Given the description of an element on the screen output the (x, y) to click on. 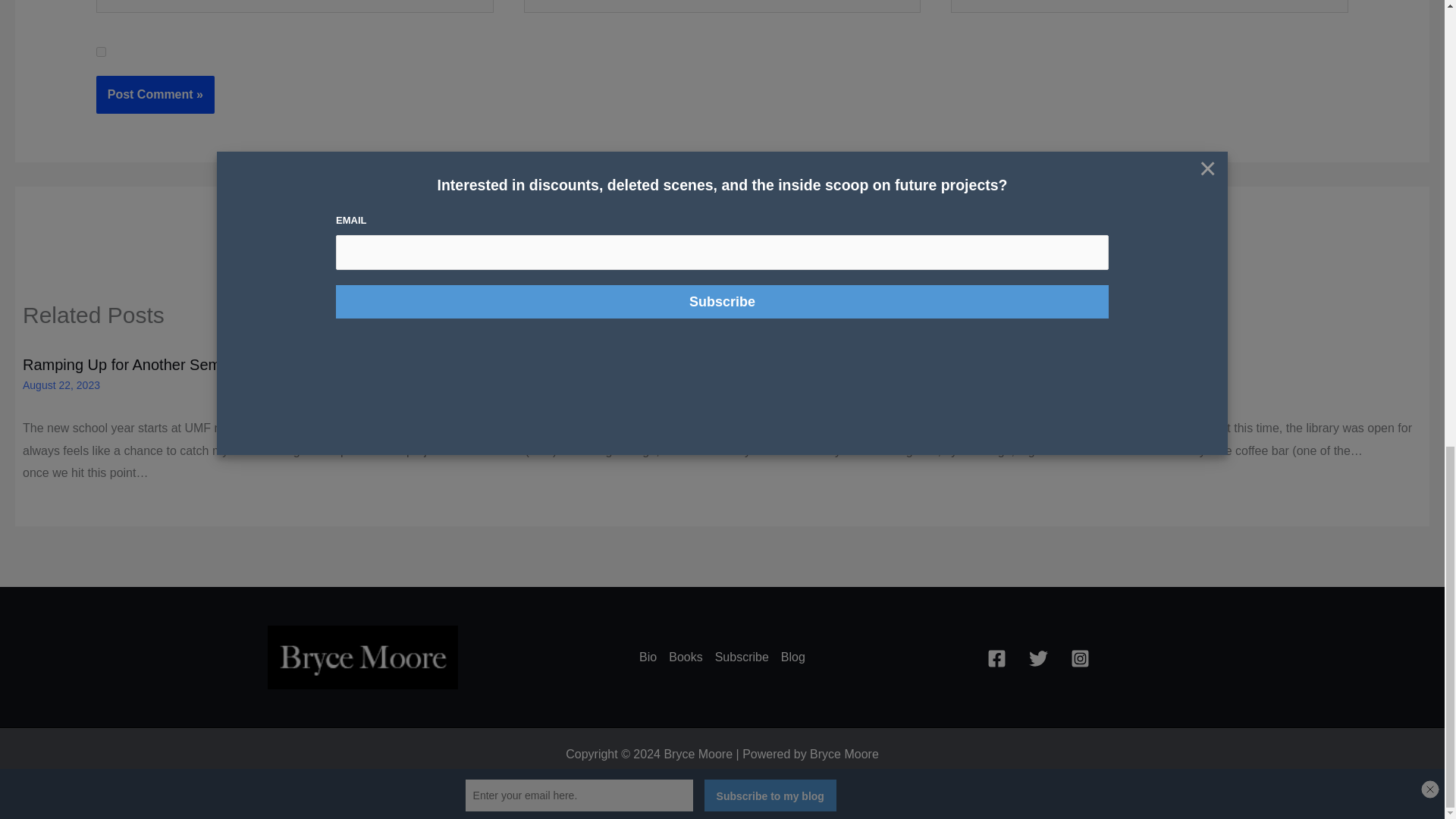
Books (684, 657)
Bio (650, 657)
Subscribe (741, 657)
Blog (789, 657)
Ramping Up for Another Semester (138, 364)
1 (101, 51)
Welcome Back to the Library! (831, 364)
